Given the description of an element on the screen output the (x, y) to click on. 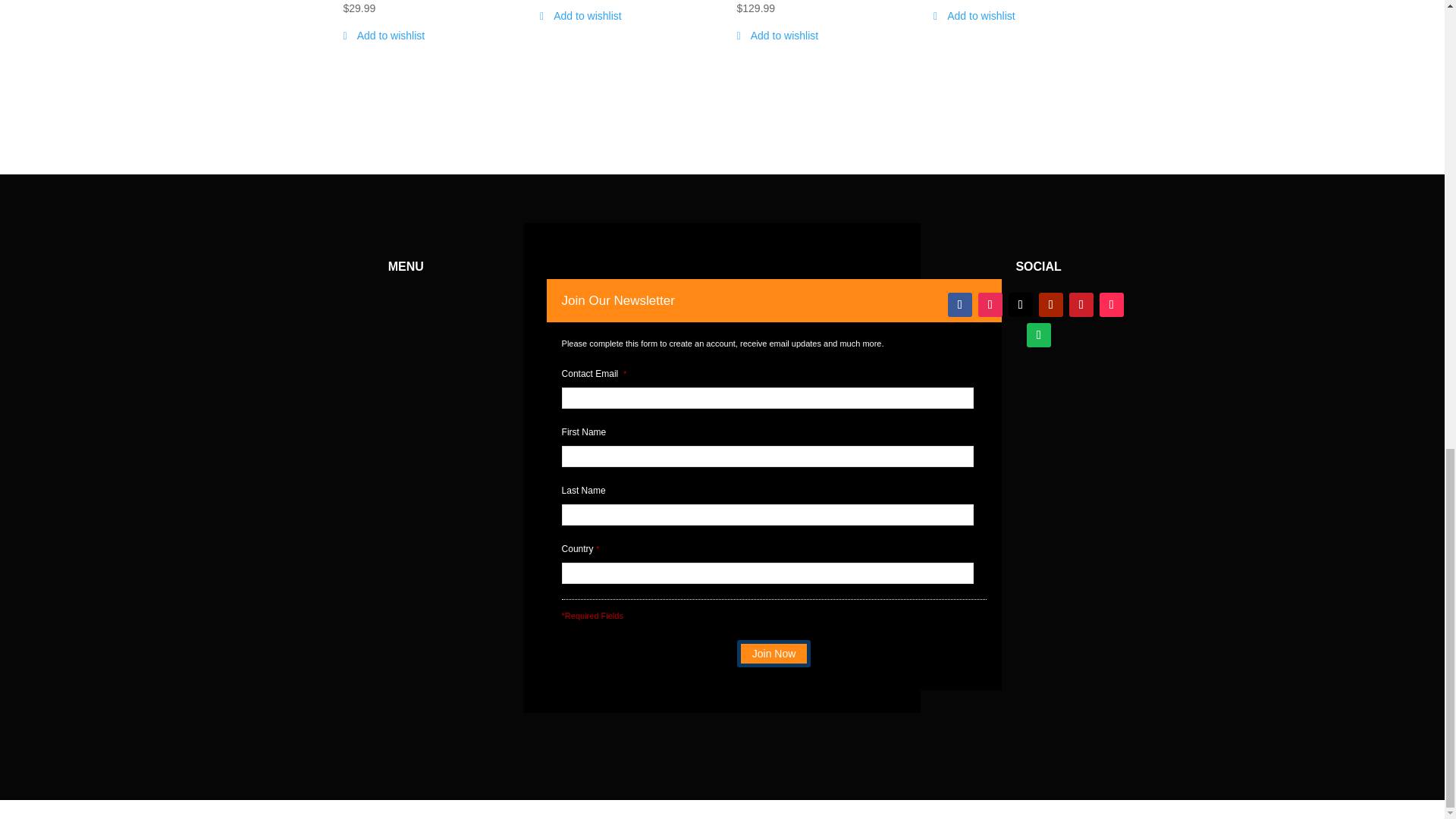
Follow on TikTok (1111, 304)
Follow on Facebook (959, 304)
Follow on Instagram (990, 304)
Join Now (773, 653)
Follow on X (1020, 304)
Follow on Youtube (1050, 304)
Follow on Pinterest (1080, 304)
Follow on Spotify (1038, 334)
